Given the description of an element on the screen output the (x, y) to click on. 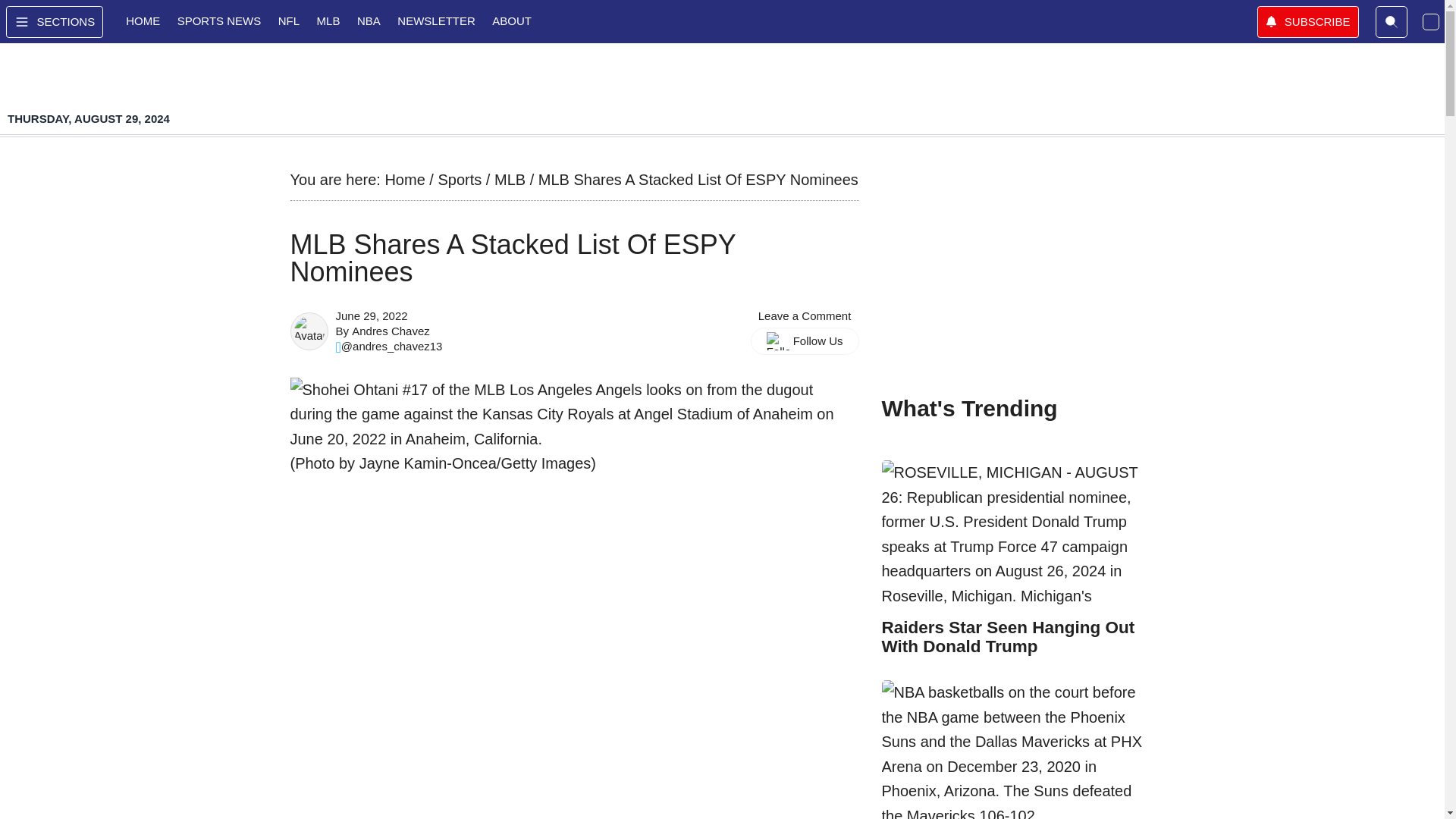
Search (1391, 21)
Open Menu (54, 21)
